Given the description of an element on the screen output the (x, y) to click on. 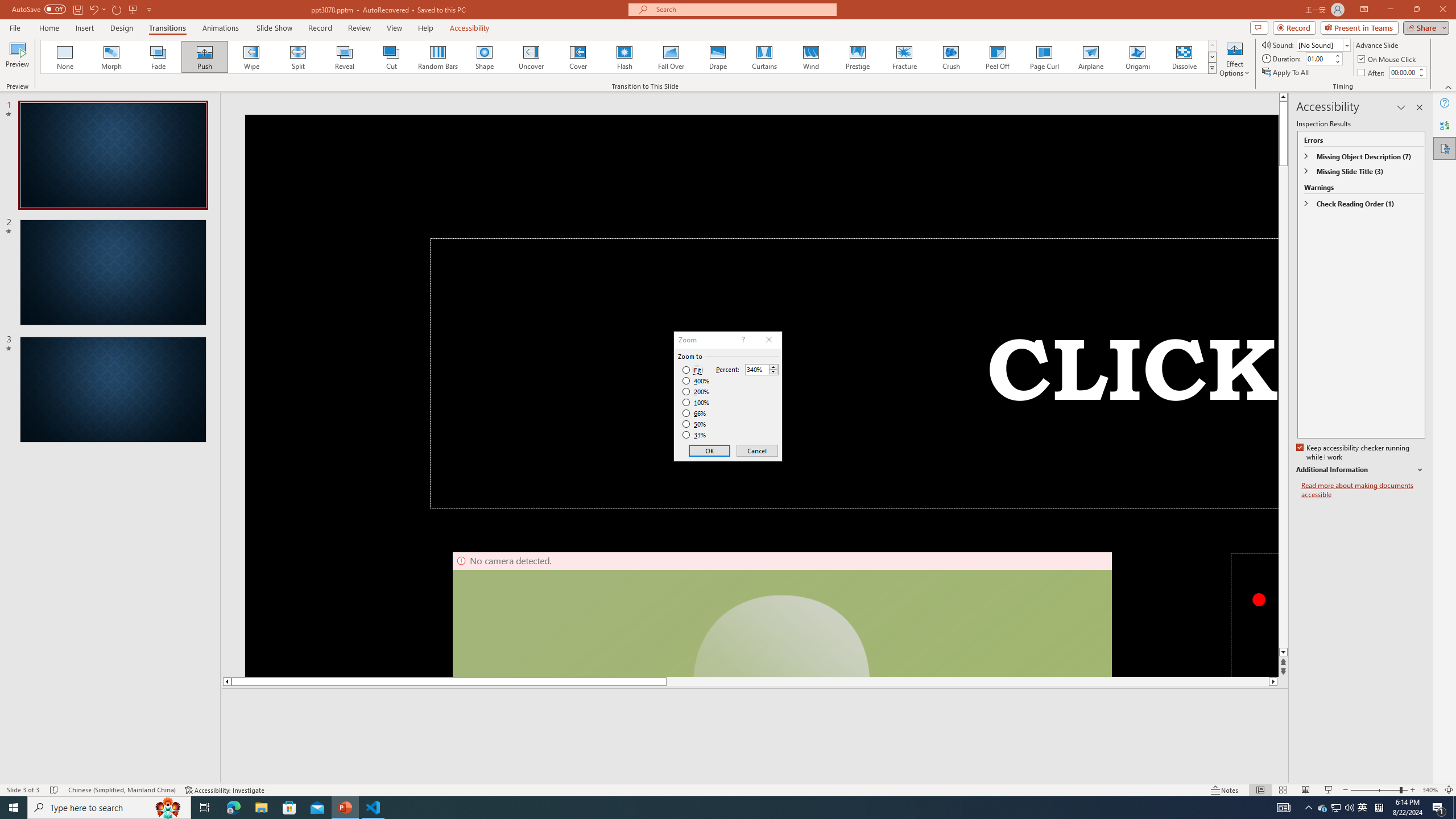
Split (298, 56)
Curtains (764, 56)
Reveal (344, 56)
50% (694, 424)
Shape (484, 56)
